Given the description of an element on the screen output the (x, y) to click on. 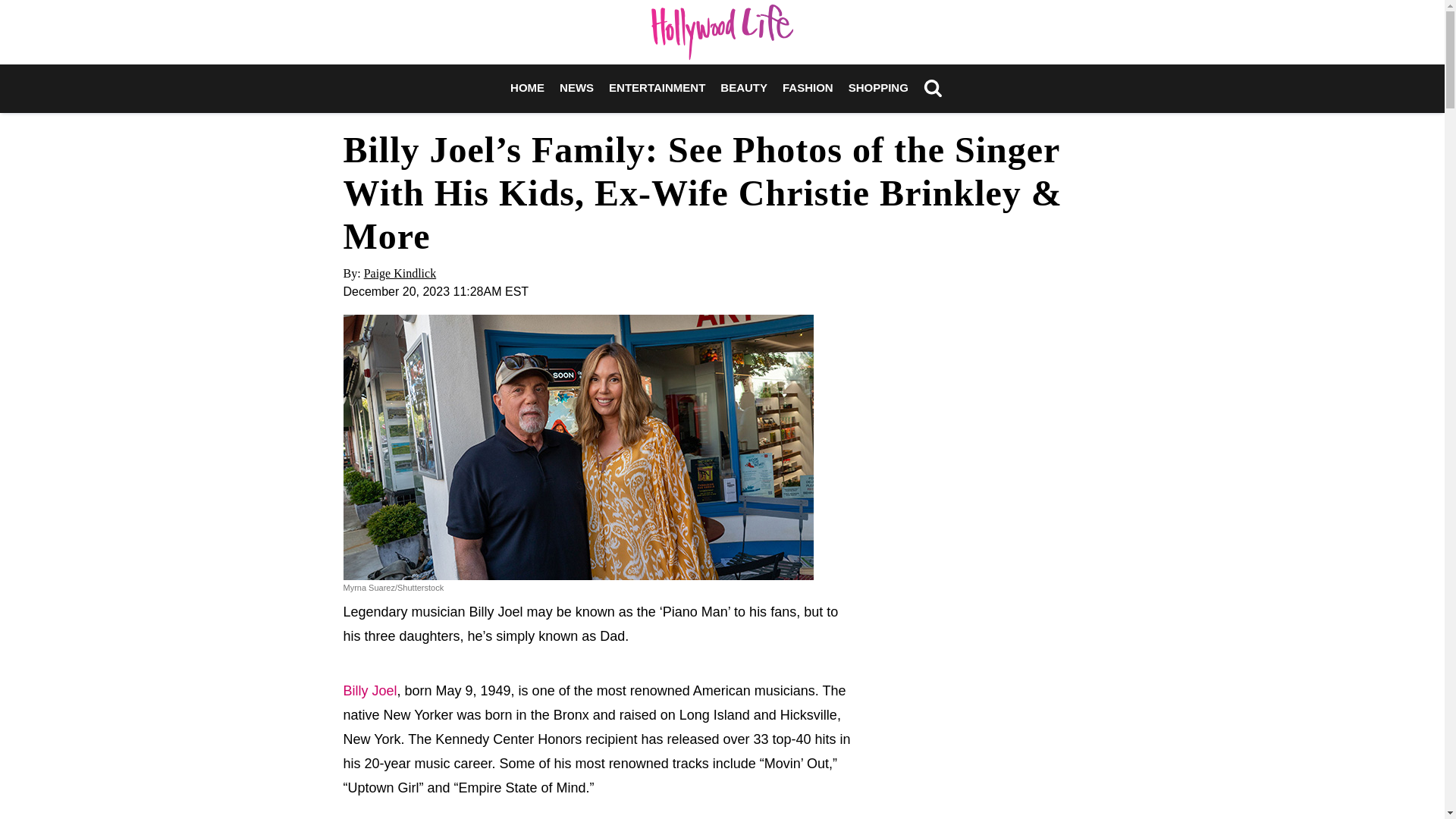
Hollywood Life (722, 32)
BEAUTY (743, 88)
FASHION (807, 88)
ENTERTAINMENT (656, 88)
Posts by Paige Kindlick (400, 273)
SHOPPING (878, 88)
